Given the description of an element on the screen output the (x, y) to click on. 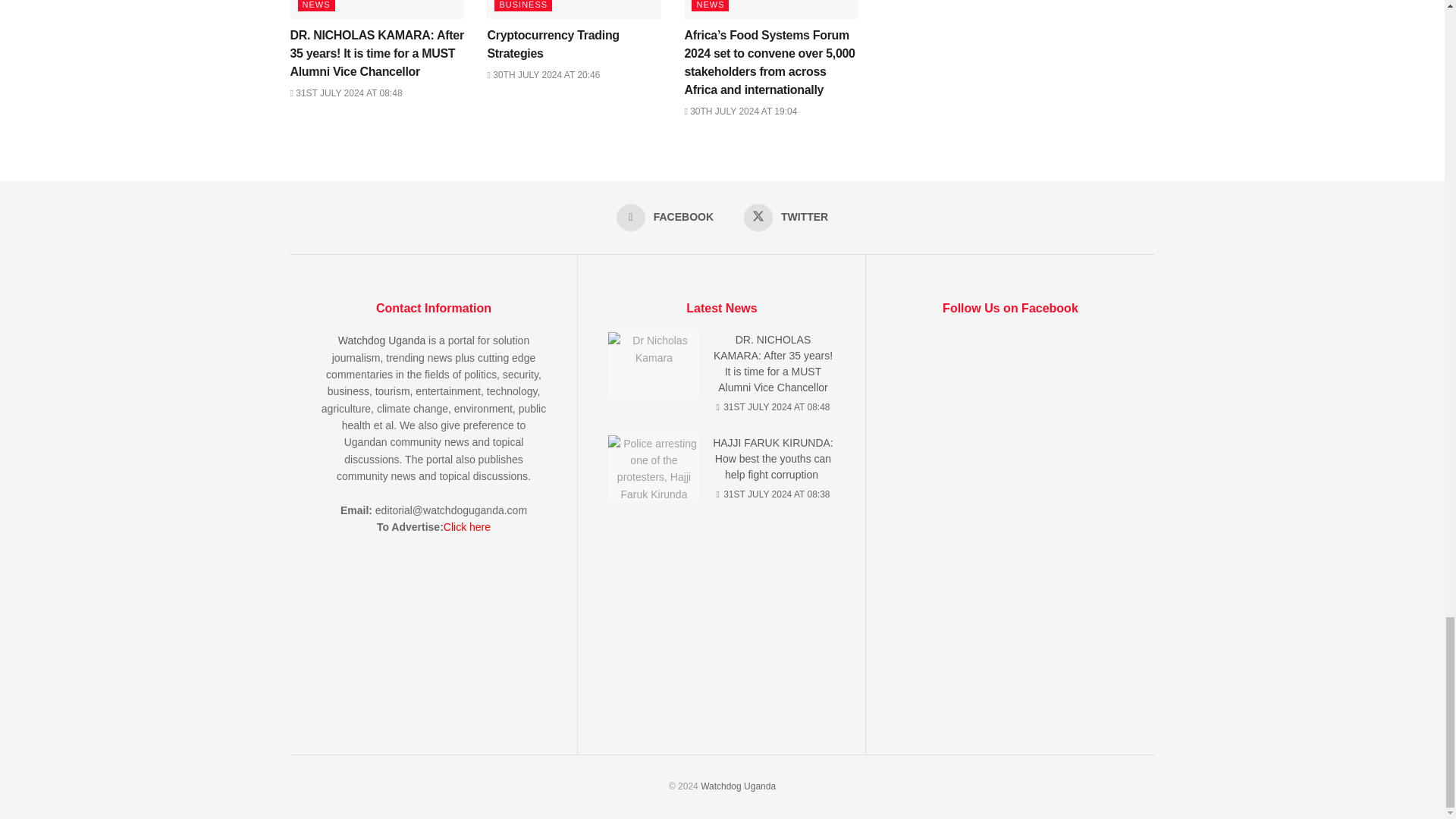
Latest News in Uganda (738, 786)
